Given the description of an element on the screen output the (x, y) to click on. 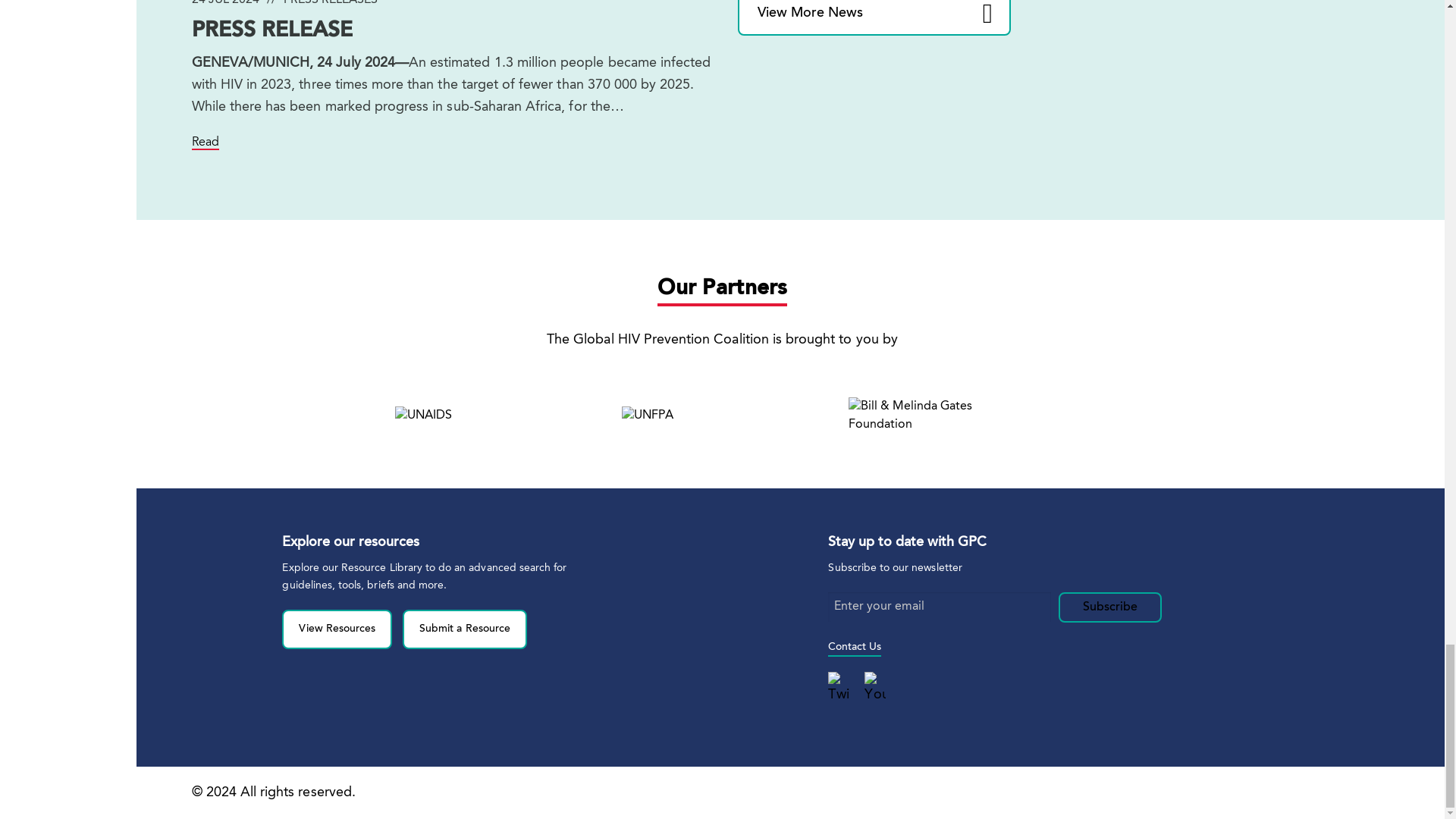
Subscribe (1109, 607)
